Given the description of an element on the screen output the (x, y) to click on. 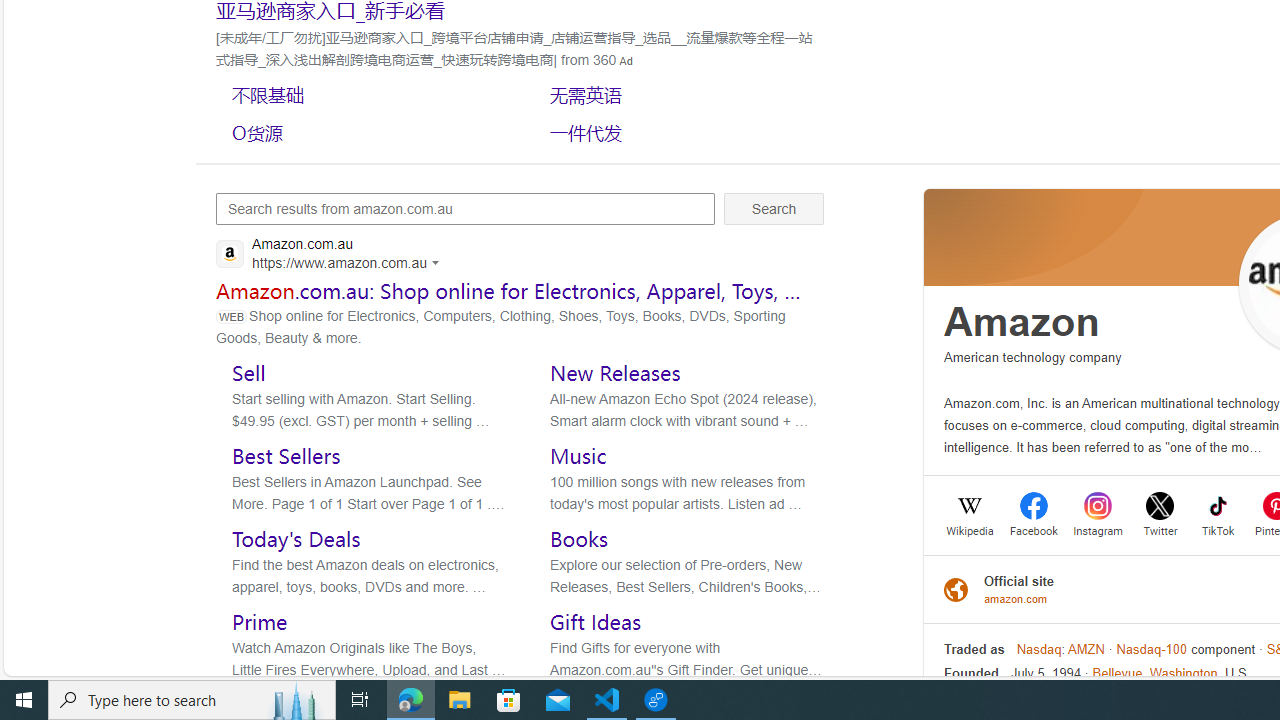
SERP,5570 (365, 132)
Wikipedia (969, 529)
AMZN (1085, 649)
Founded (971, 673)
New Releases (615, 372)
Class: sp-ofsite (955, 588)
American technology company (1033, 357)
Today's Deals (295, 539)
Prime (259, 622)
TikTok (1217, 529)
